Given the description of an element on the screen output the (x, y) to click on. 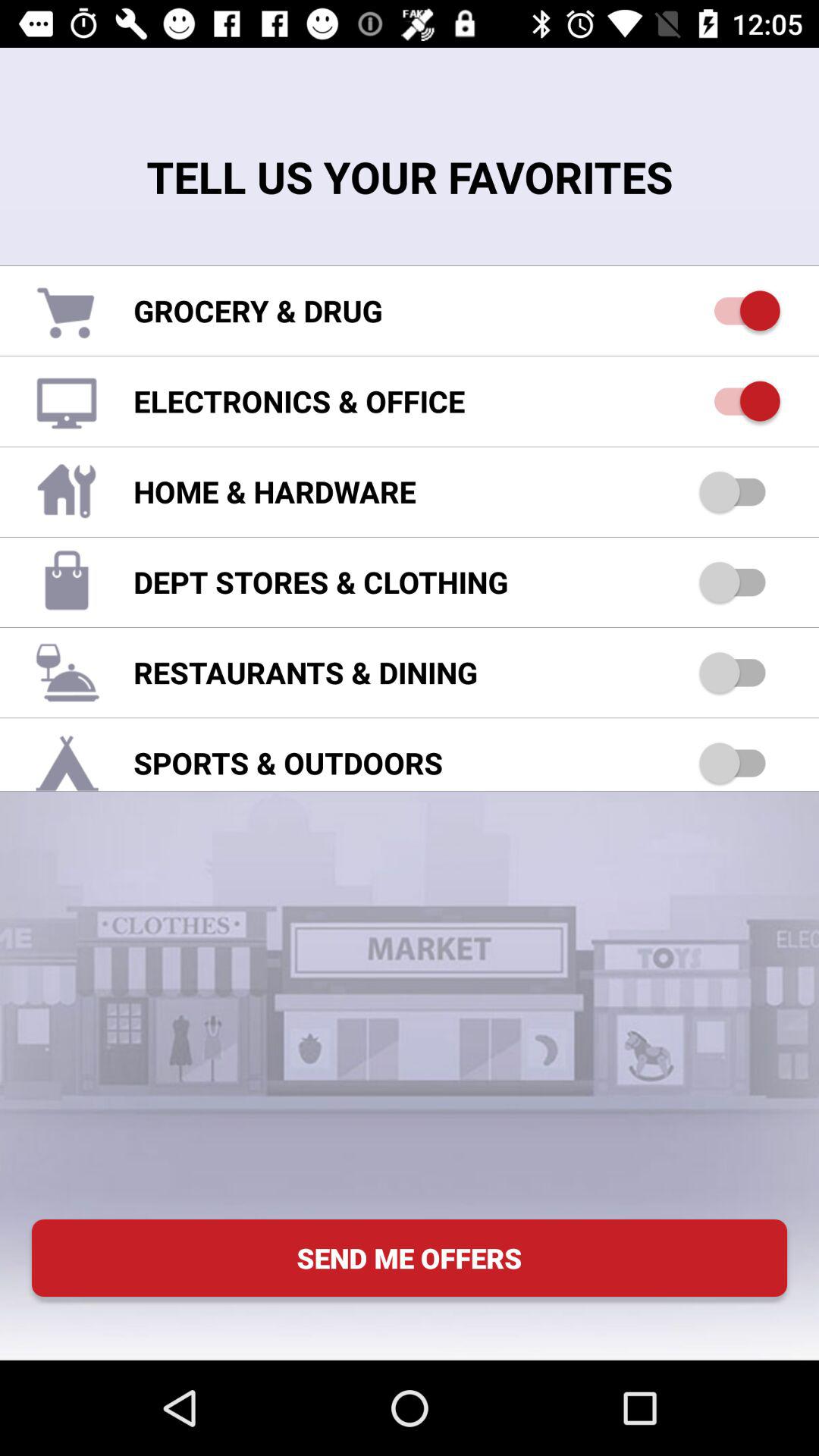
the button is used to turn on (739, 491)
